Given the description of an element on the screen output the (x, y) to click on. 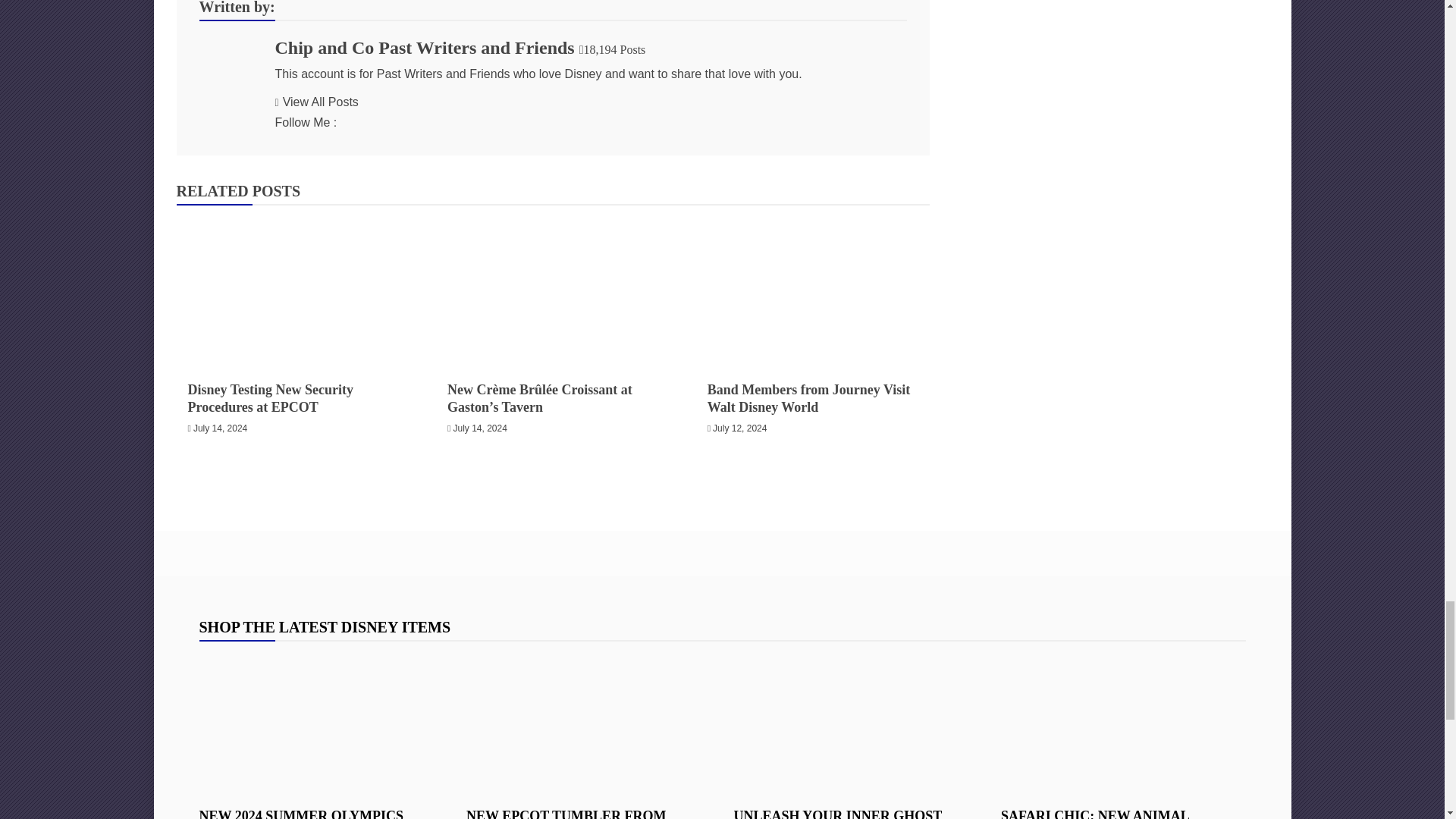
Band Members from Journey Visit Walt Disney World (812, 290)
Posts by Chip and Co Past Writers and Friends (424, 47)
Disney Testing New Security Procedures at EPCOT (292, 290)
